Given the description of an element on the screen output the (x, y) to click on. 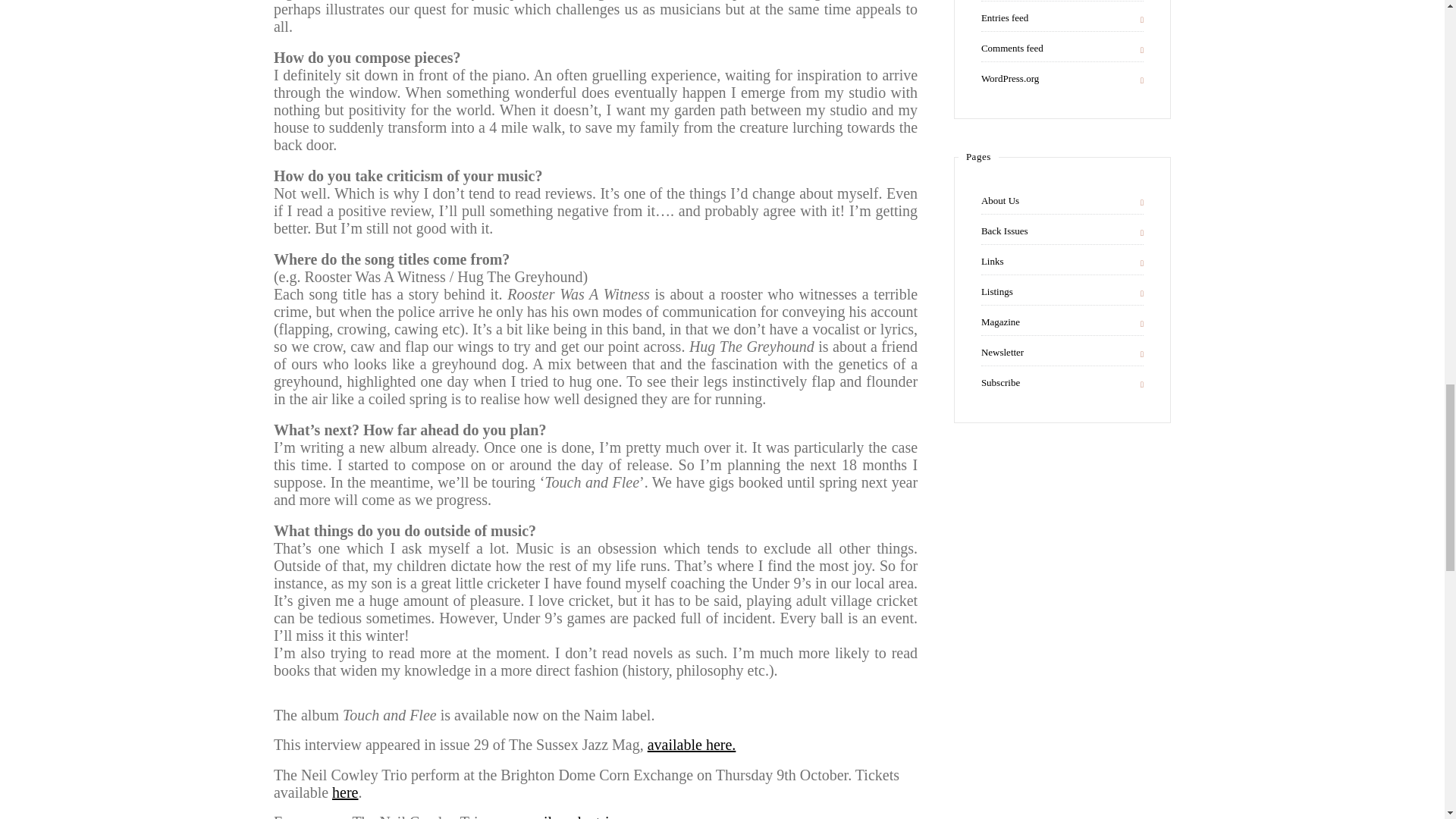
here (344, 791)
www.neilcowleytrio.com (569, 816)
available here. (691, 744)
